Given the description of an element on the screen output the (x, y) to click on. 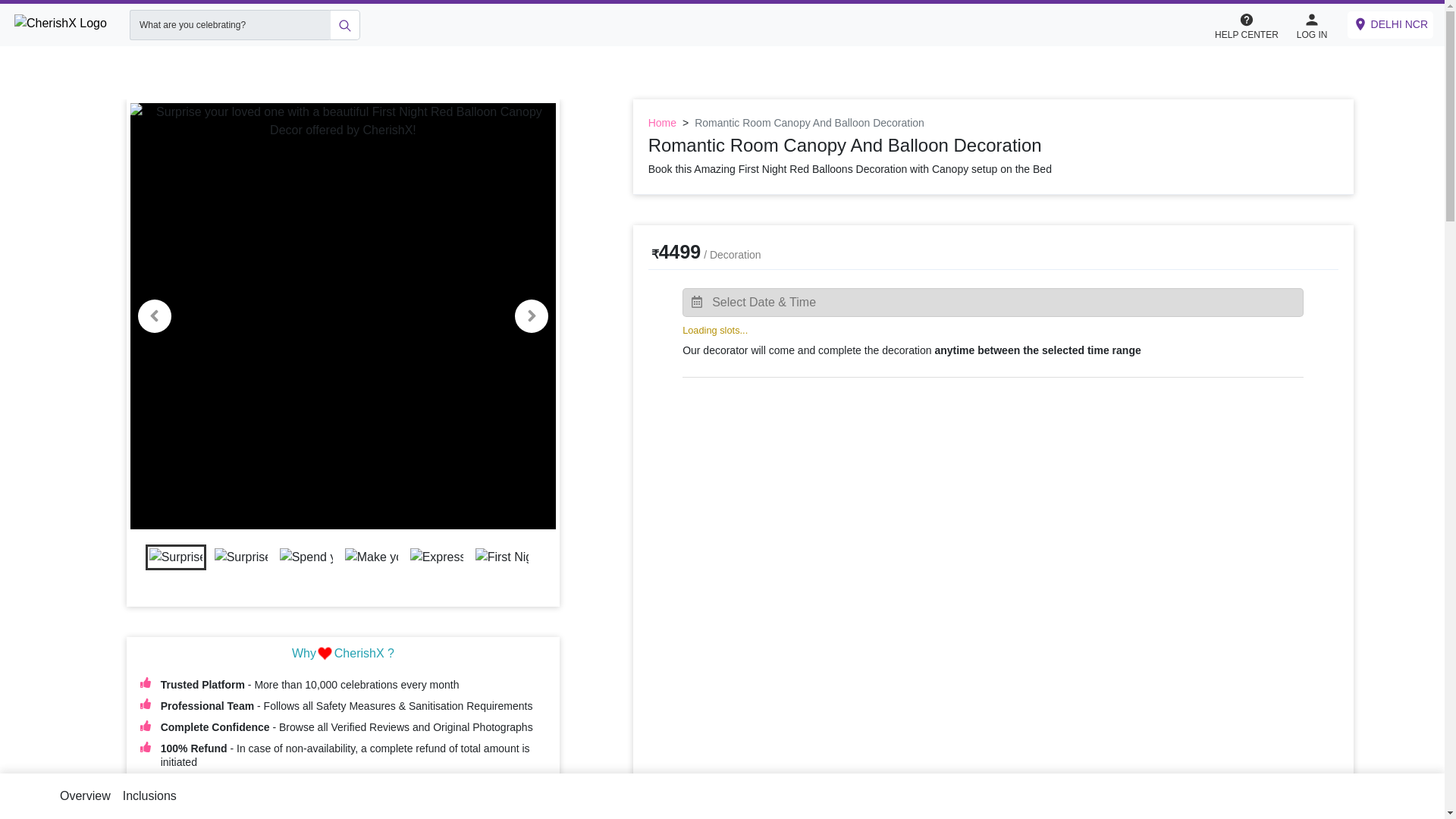
LOG IN (1312, 24)
HELP CENTER (1245, 24)
DELHI NCR (1390, 24)
What are you celebrating? (229, 24)
HELP CENTER (1253, 25)
Home (662, 122)
What are you celebrating? (229, 24)
